Given the description of an element on the screen output the (x, y) to click on. 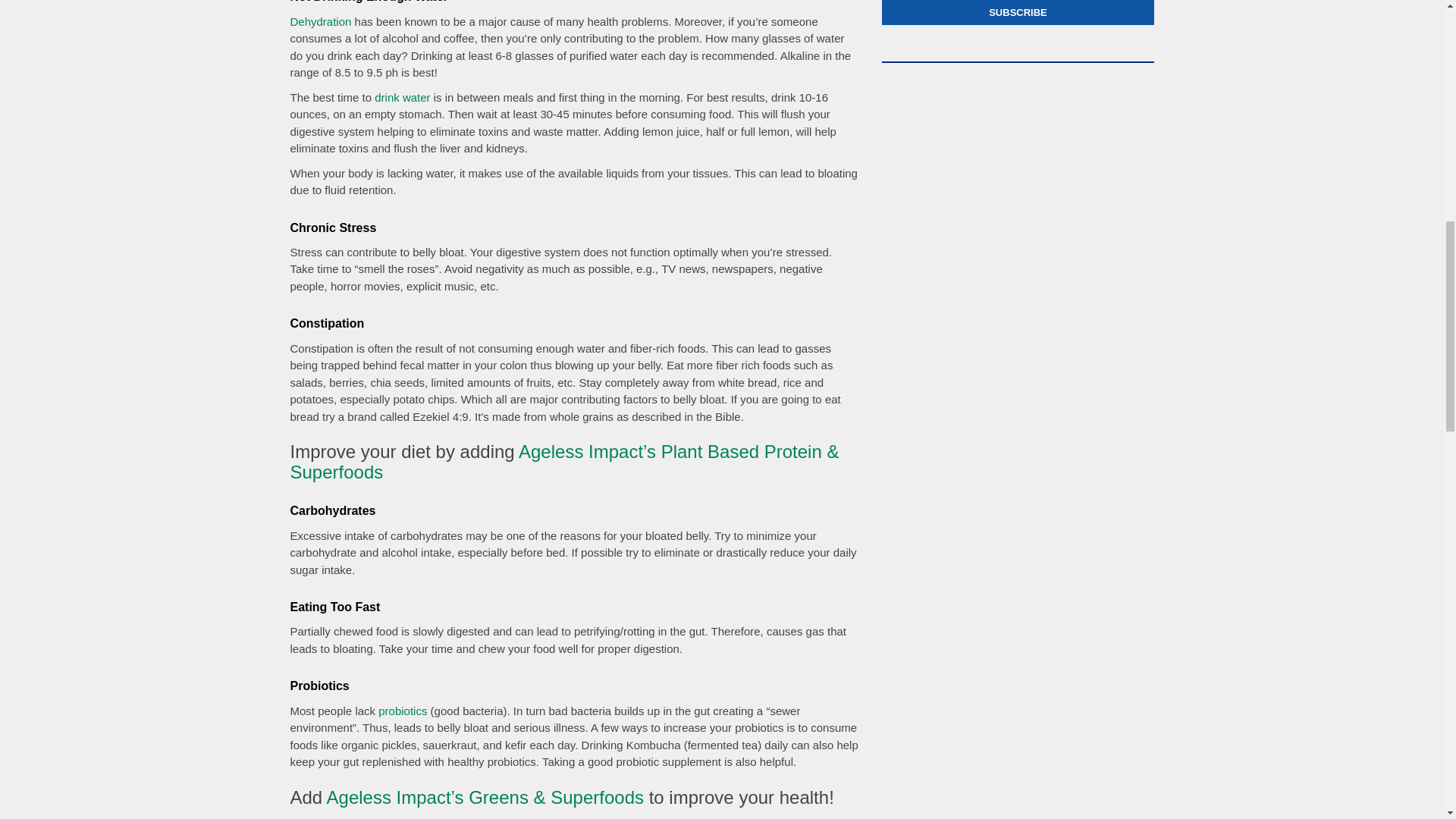
drink water (401, 97)
Subscribe (1017, 12)
Subscribe (1017, 12)
probiotics (402, 710)
Dehydration (319, 21)
